Given the description of an element on the screen output the (x, y) to click on. 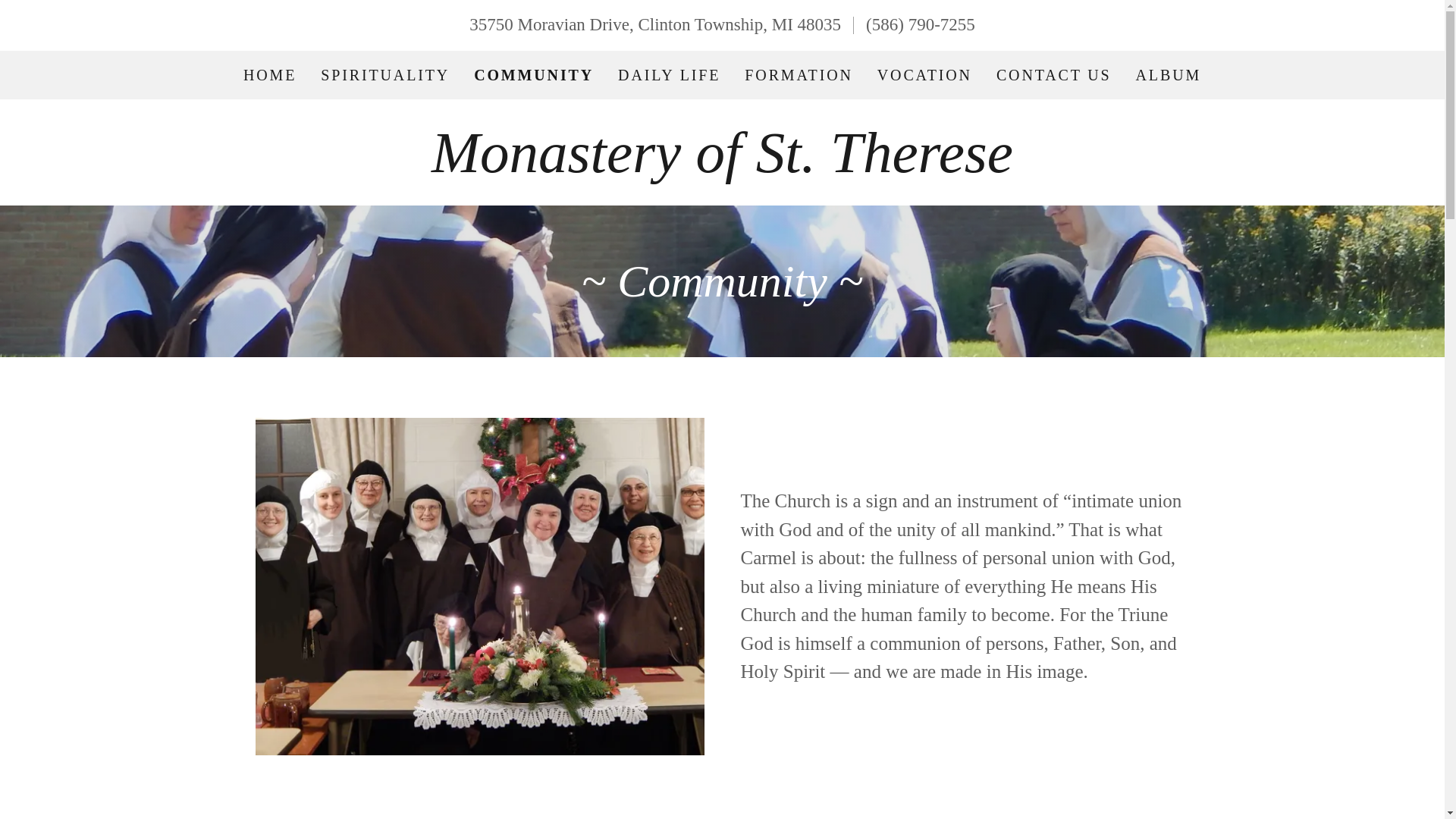
ALBUM (1169, 73)
DAILY LIFE (668, 73)
Monastery of St. Therese (721, 165)
CONTACT US (1053, 73)
VOCATION (924, 73)
Monastery of St. Therese (721, 165)
FORMATION (798, 73)
HOME (269, 73)
SPIRITUALITY (384, 73)
COMMUNITY (534, 74)
